Given the description of an element on the screen output the (x, y) to click on. 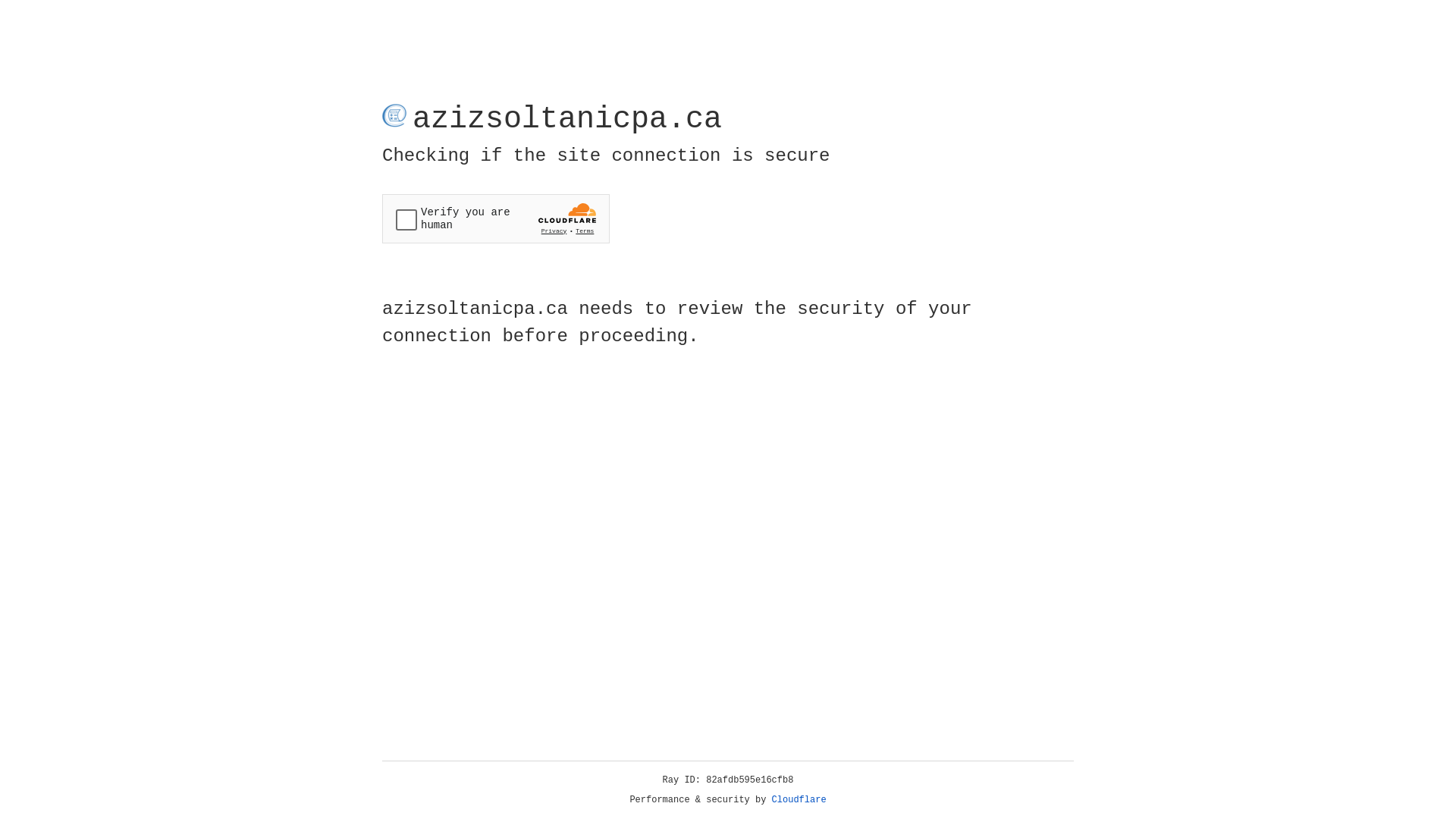
Widget containing a Cloudflare security challenge Element type: hover (495, 218)
Cloudflare Element type: text (798, 799)
